Given the description of an element on the screen output the (x, y) to click on. 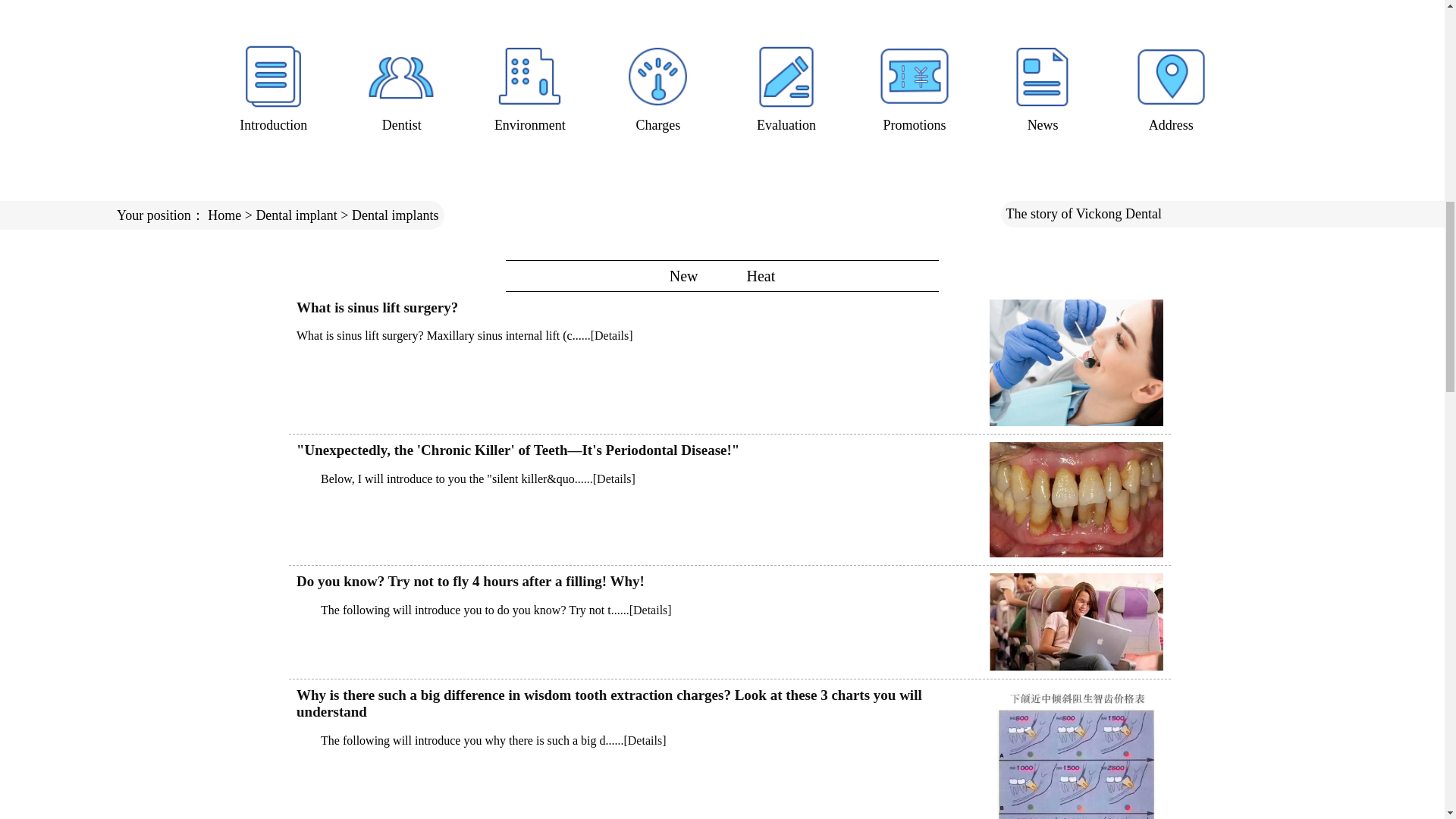
Evaluation (785, 86)
Dentist (401, 86)
Charges (657, 86)
Promotions (914, 86)
Introduction (273, 86)
Environment (529, 86)
Dental implant (296, 215)
What is sinus lift surgery? (377, 307)
Home (224, 215)
News (1043, 86)
Address (1171, 86)
Dental implants (395, 215)
